Given the description of an element on the screen output the (x, y) to click on. 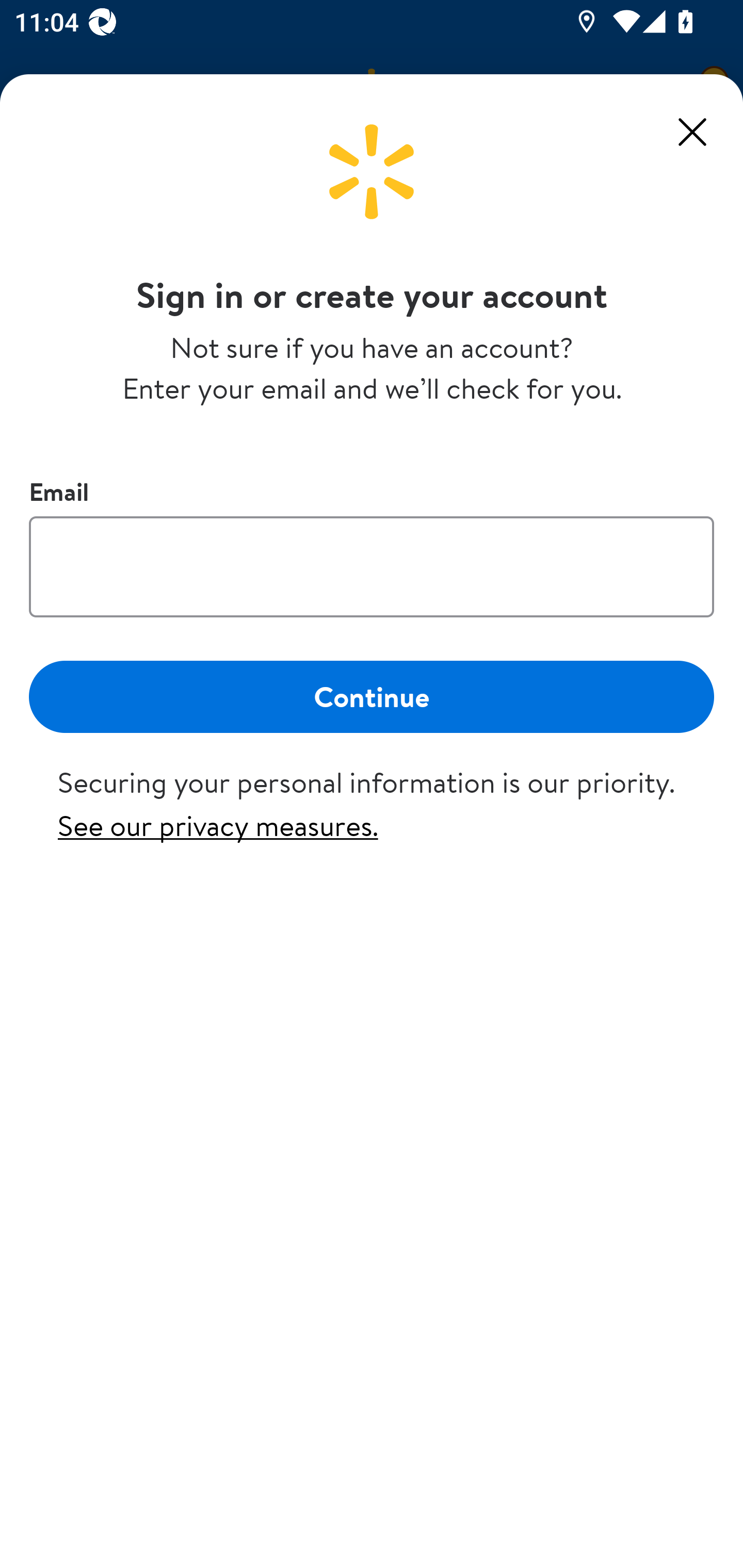
Close (692, 131)
Email (371, 566)
Continue (371, 696)
